Given the description of an element on the screen output the (x, y) to click on. 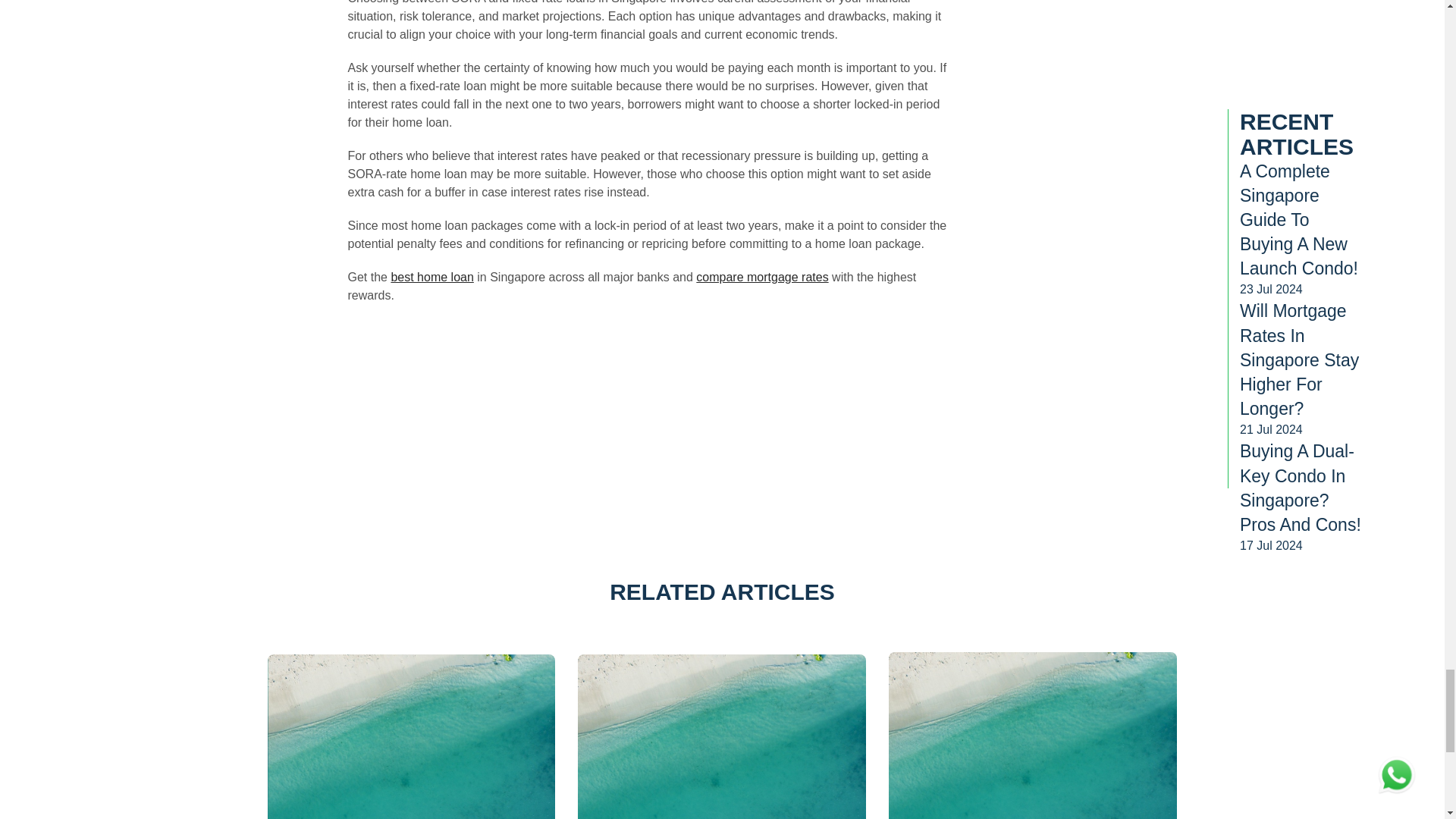
compare mortgage rates (761, 277)
best home loan (431, 277)
